Given the description of an element on the screen output the (x, y) to click on. 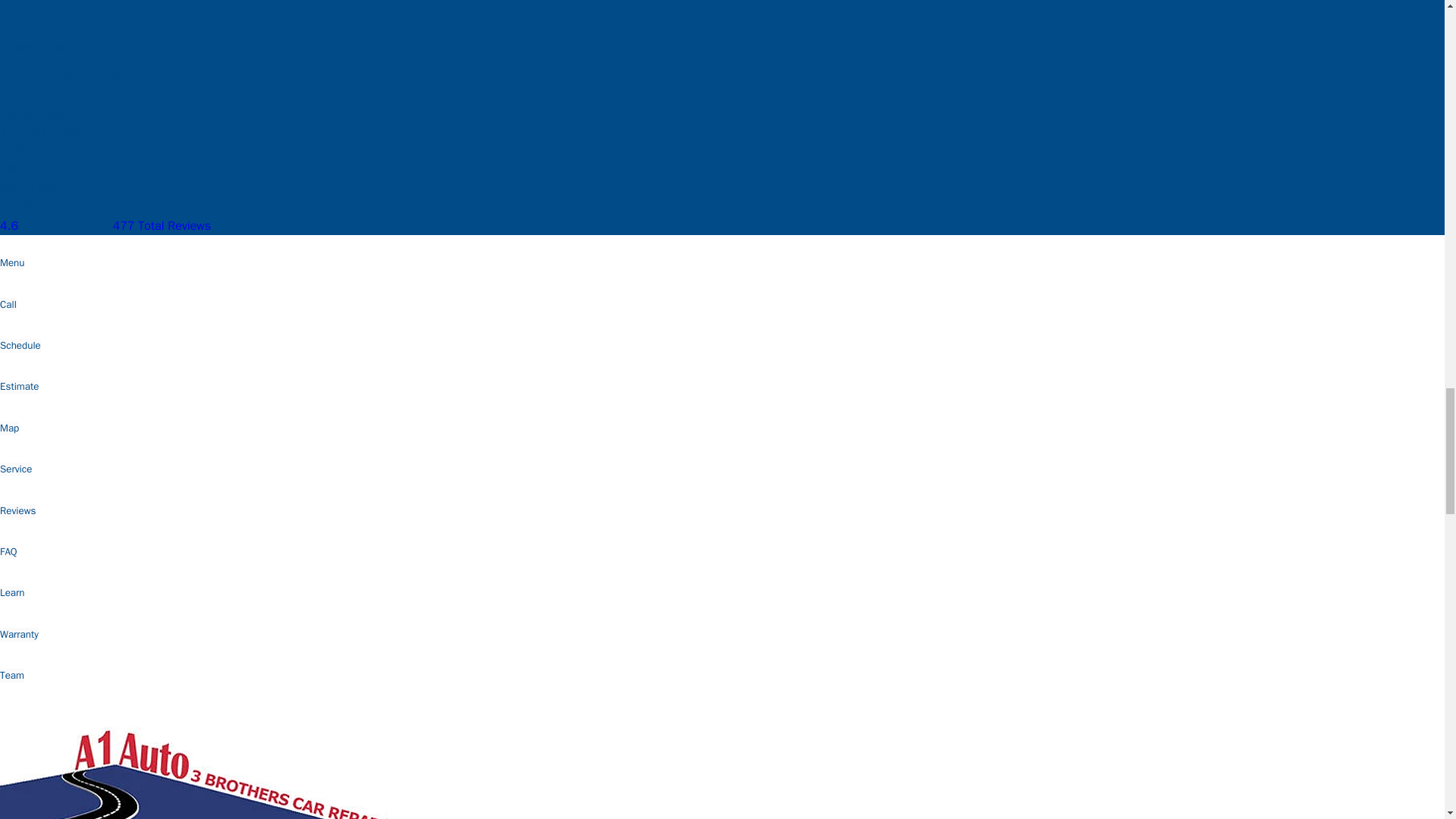
Find A1 Auto 3 Brothers Car Repair (75, 6)
